Given the description of an element on the screen output the (x, y) to click on. 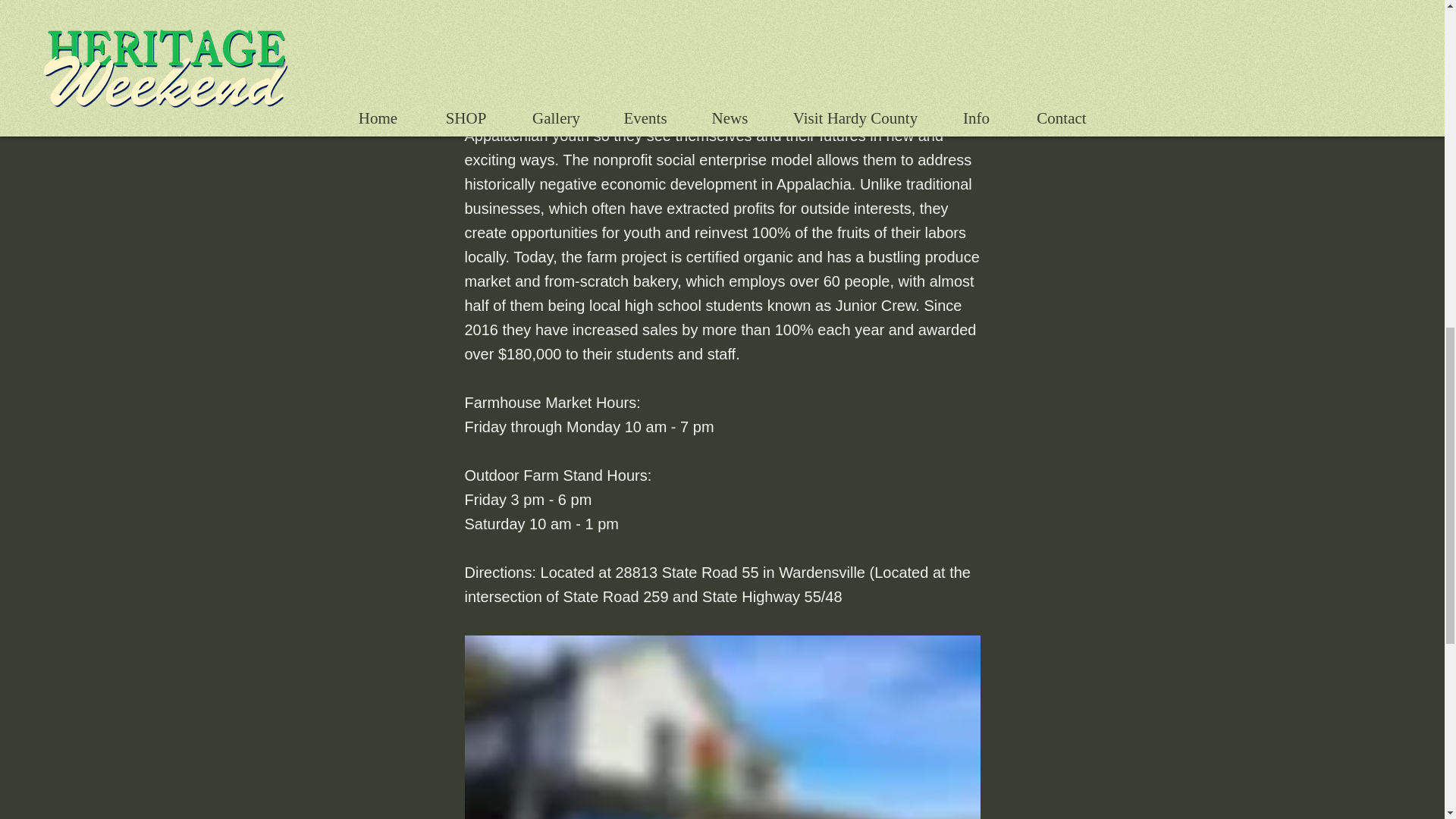
5630E52C-871D-4A83-90E7-D16D5958E422.jpeg (721, 727)
